Given the description of an element on the screen output the (x, y) to click on. 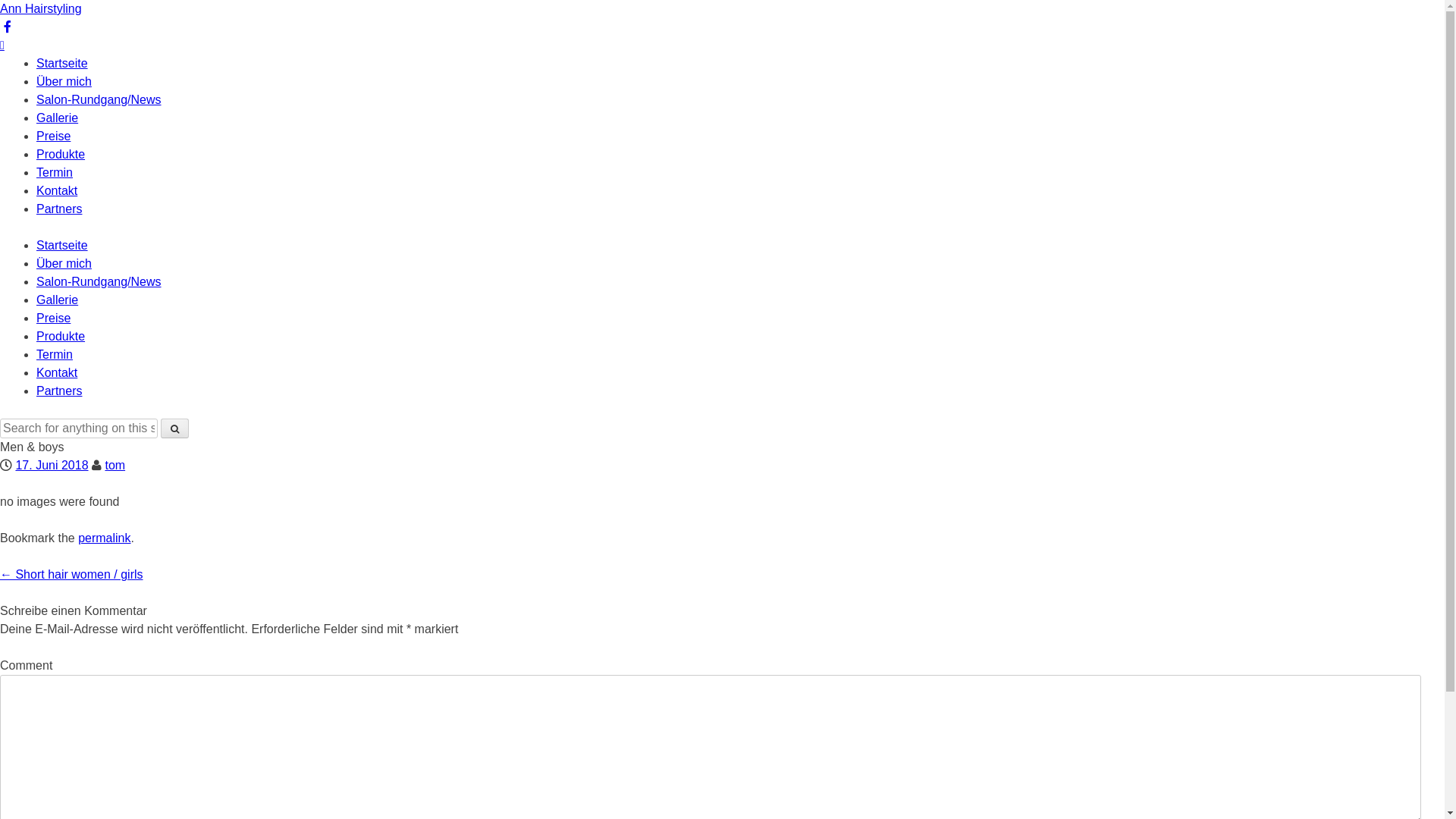
Termin Element type: text (54, 354)
Preise Element type: text (53, 135)
Kontakt Element type: text (56, 372)
Salon-Rundgang/News Element type: text (98, 281)
17. Juni 2018 Element type: text (51, 464)
permalink Element type: text (104, 537)
Preise Element type: text (53, 317)
Produkte Element type: text (60, 153)
Gallerie Element type: text (57, 299)
Partners Element type: text (58, 390)
Startseite Element type: text (61, 62)
Partners Element type: text (58, 208)
Produkte Element type: text (60, 335)
Salon-Rundgang/News Element type: text (98, 99)
Termin Element type: text (54, 172)
Startseite Element type: text (61, 244)
Ann Hairstyling Element type: text (40, 8)
Kontakt Element type: text (56, 190)
tom Element type: text (114, 464)
Gallerie Element type: text (57, 117)
